Given the description of an element on the screen output the (x, y) to click on. 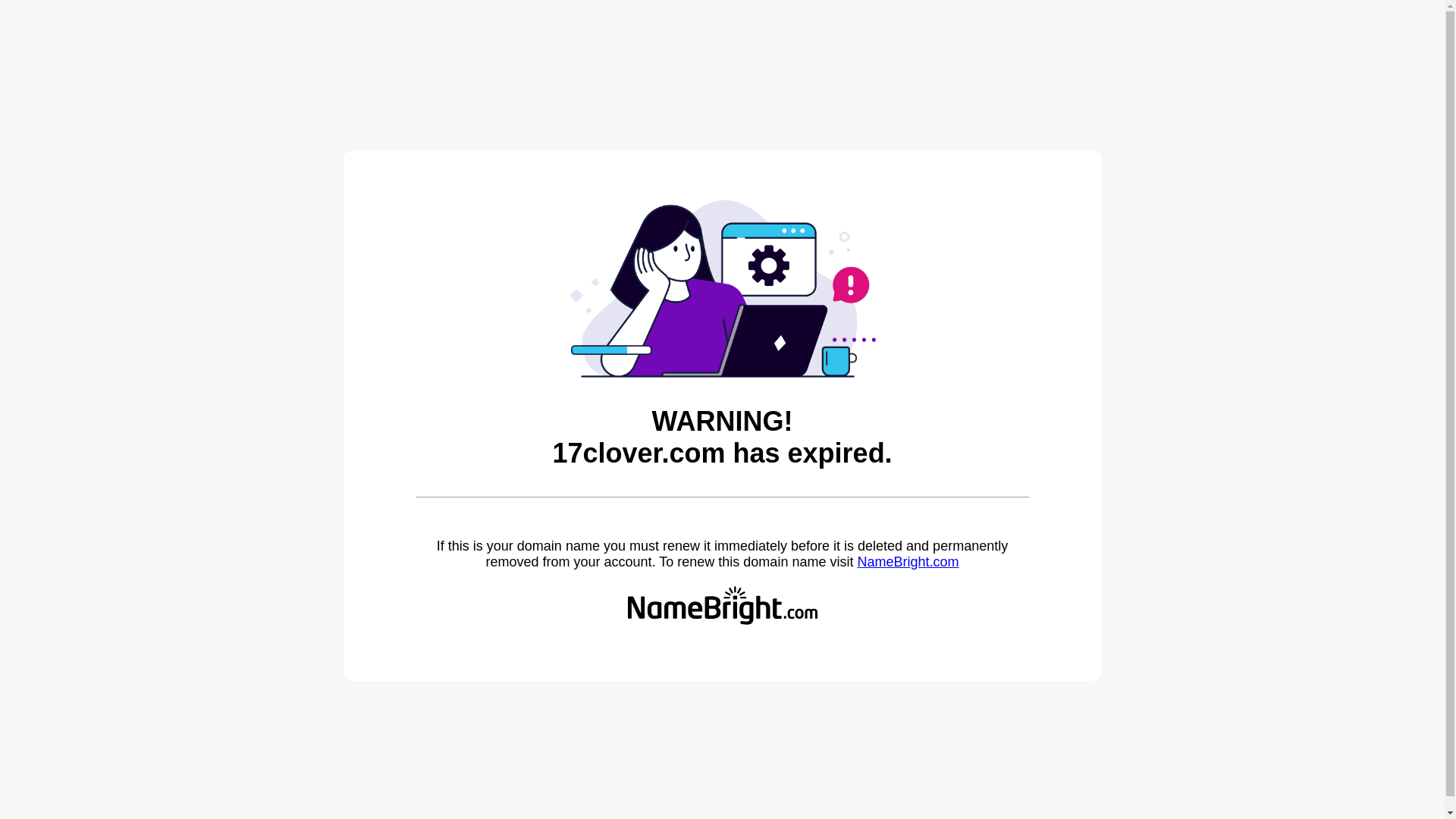
NameBright.com Element type: text (907, 561)
